Given the description of an element on the screen output the (x, y) to click on. 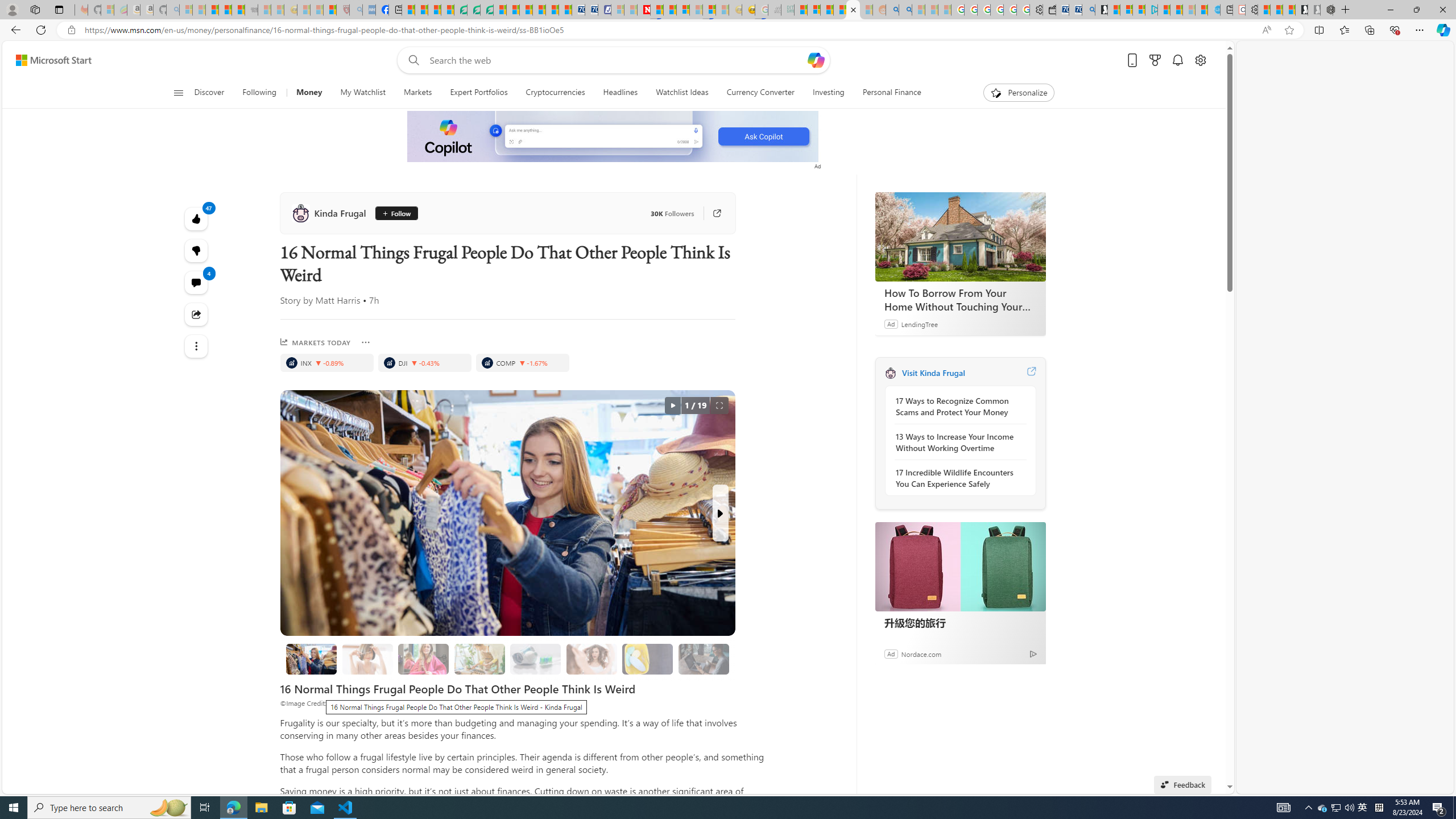
LendingTree - Compare Lenders (460, 9)
Markets (417, 92)
7. Not Upgrading Phones (703, 659)
list of asthma inhalers uk - Search - Sleeping (355, 9)
Open Copilot (815, 59)
7. Not Upgrading Phones (703, 658)
Microsoft Start (53, 60)
Robert H. Shmerling, MD - Harvard Health - Sleeping (342, 9)
Currency Converter (760, 92)
My Watchlist (362, 92)
